Given the description of an element on the screen output the (x, y) to click on. 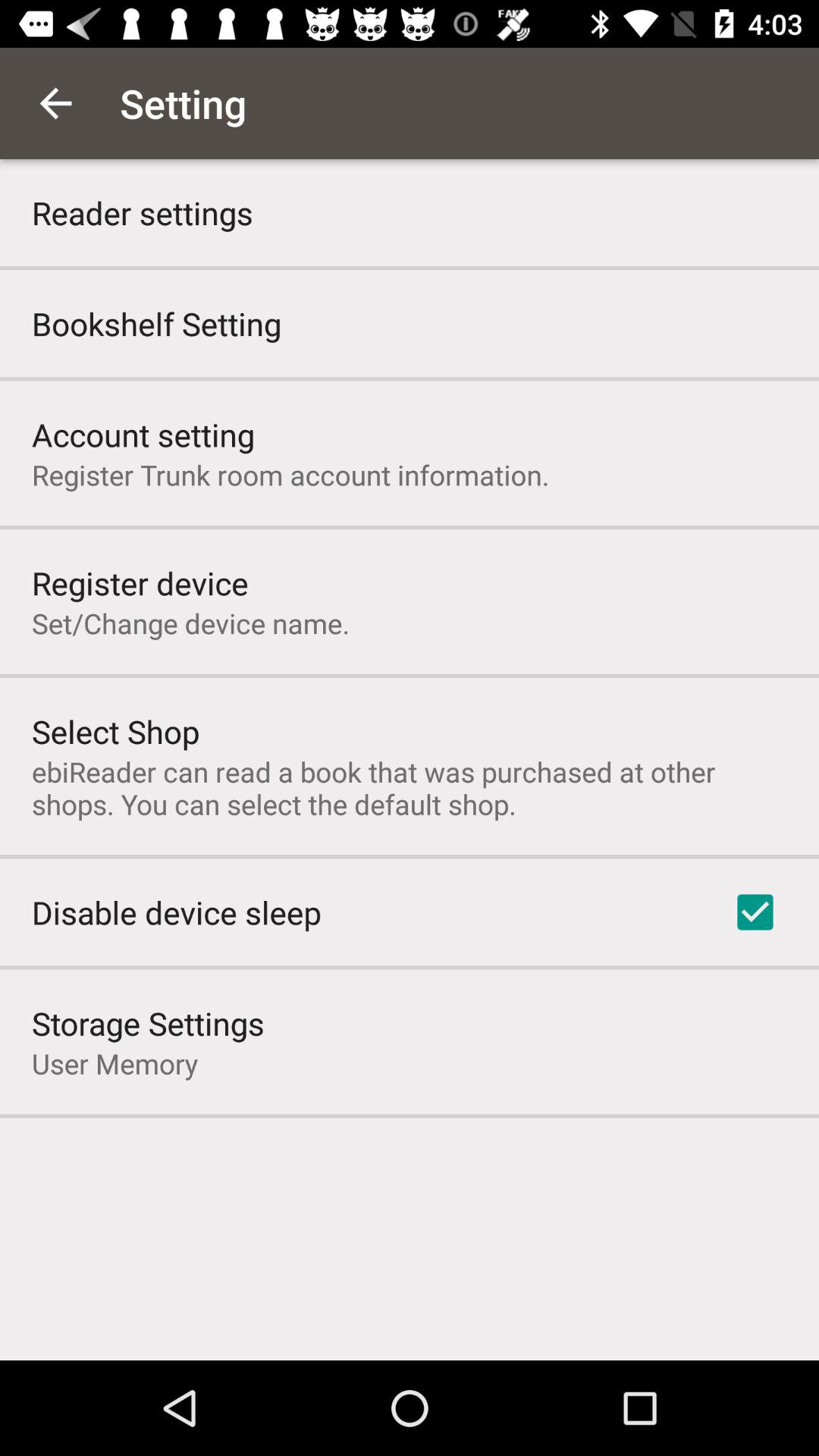
open the item next to the disable device sleep (755, 912)
